Given the description of an element on the screen output the (x, y) to click on. 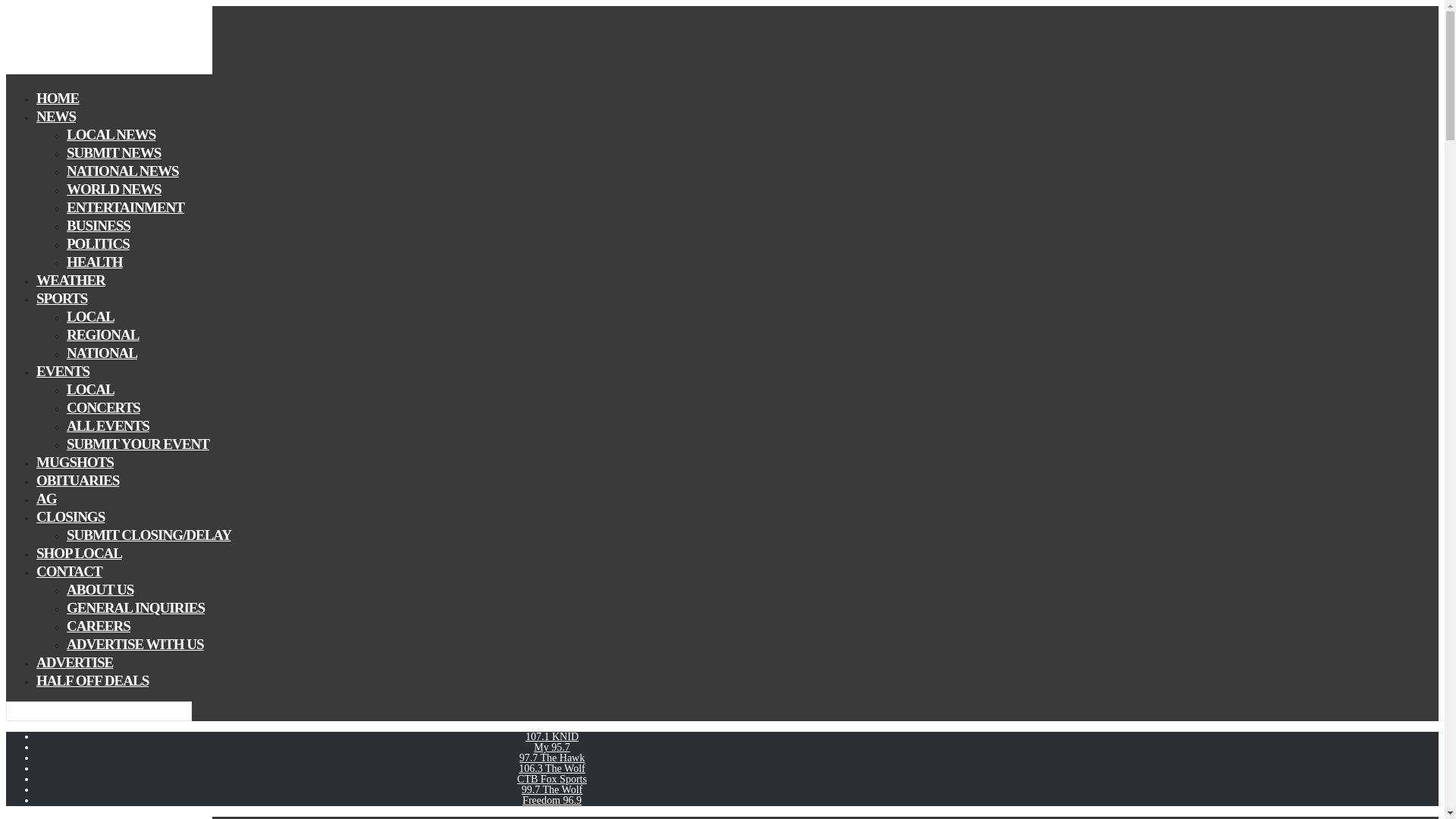
107.1 KNID (551, 736)
HOME (57, 97)
ENTERTAINMENT (125, 207)
SHOP LOCAL (79, 553)
My 95.7 (551, 747)
CONTACT (68, 571)
AG (46, 498)
CAREERS (98, 626)
GENERAL INQUIRIES (135, 608)
ADVERTISE WITH US (134, 644)
CLOSINGS (70, 516)
BUSINESS (98, 225)
WORLD NEWS (113, 188)
ADVERTISE (74, 662)
POLITICS (97, 243)
